Given the description of an element on the screen output the (x, y) to click on. 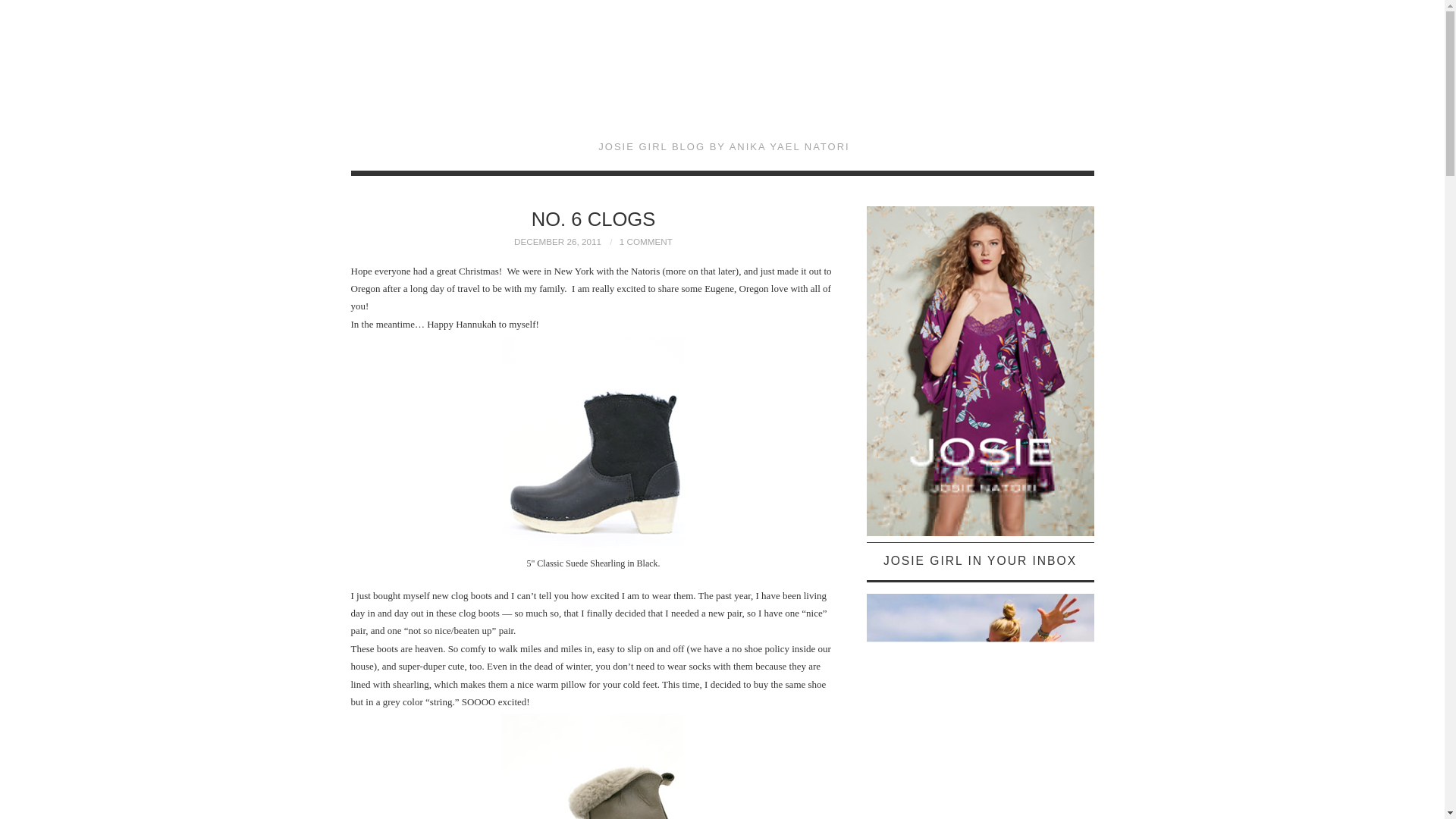
JOSIE GIRL BLOG (722, 80)
Picture 2 (594, 766)
1 COMMENT (646, 241)
Picture 1 (593, 442)
Josie Girl Blog (722, 80)
DECEMBER 26, 2011 (557, 241)
